Given the description of an element on the screen output the (x, y) to click on. 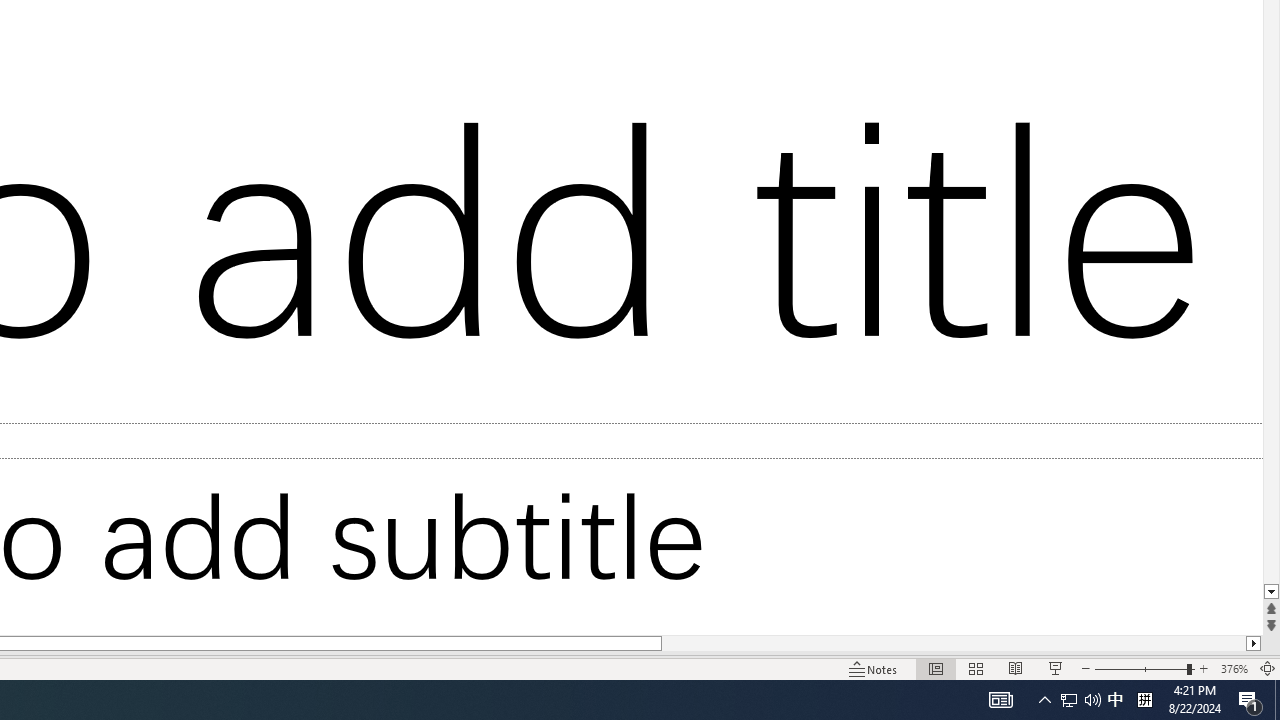
Zoom 376% (1234, 668)
